Given the description of an element on the screen output the (x, y) to click on. 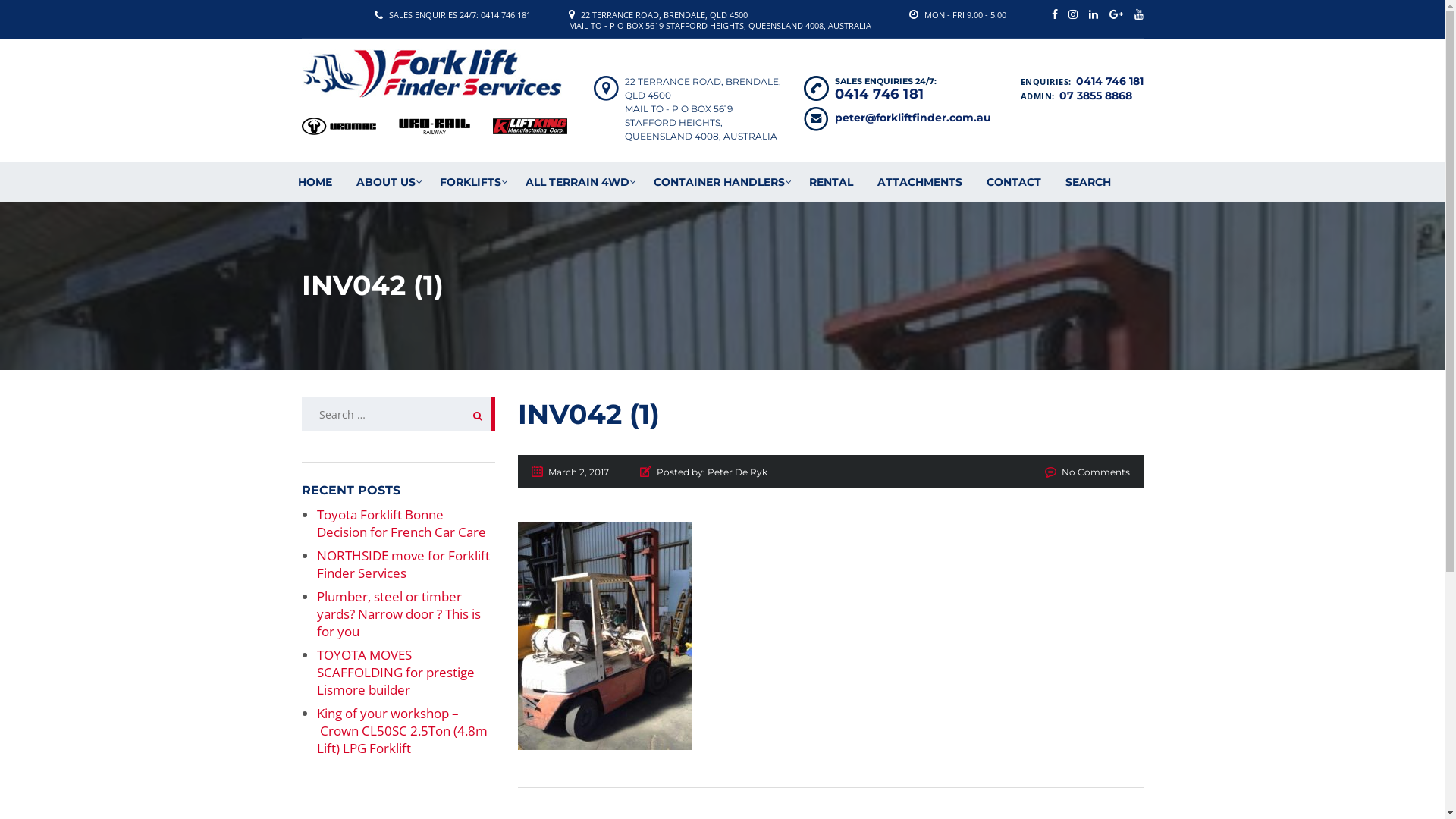
0414 746 181 Element type: text (878, 93)
peter@forkliftfinder.com.au Element type: text (912, 117)
CONTACT Element type: text (1012, 181)
RENTAL Element type: text (830, 181)
No Comments Element type: text (1095, 471)
NORTHSIDE move for Forklift Finder Services Element type: text (402, 563)
Home Element type: hover (431, 73)
TOYOTA MOVES SCAFFOLDING for prestige Lismore builder Element type: text (395, 672)
0414 746 181 Element type: text (1108, 80)
Search Element type: text (472, 414)
ABOUT US Element type: text (385, 181)
ATTACHMENTS Element type: text (918, 181)
CONTAINER HANDLERS Element type: text (719, 181)
HOME Element type: text (314, 181)
ALL TERRAIN 4WD Element type: text (576, 181)
Toyota Forklift Bonne Decision for French Car Care Element type: text (401, 522)
07 3855 8868 Element type: text (1094, 95)
FORKLIFTS Element type: text (470, 181)
SEARCH Element type: text (1087, 181)
